Given the description of an element on the screen output the (x, y) to click on. 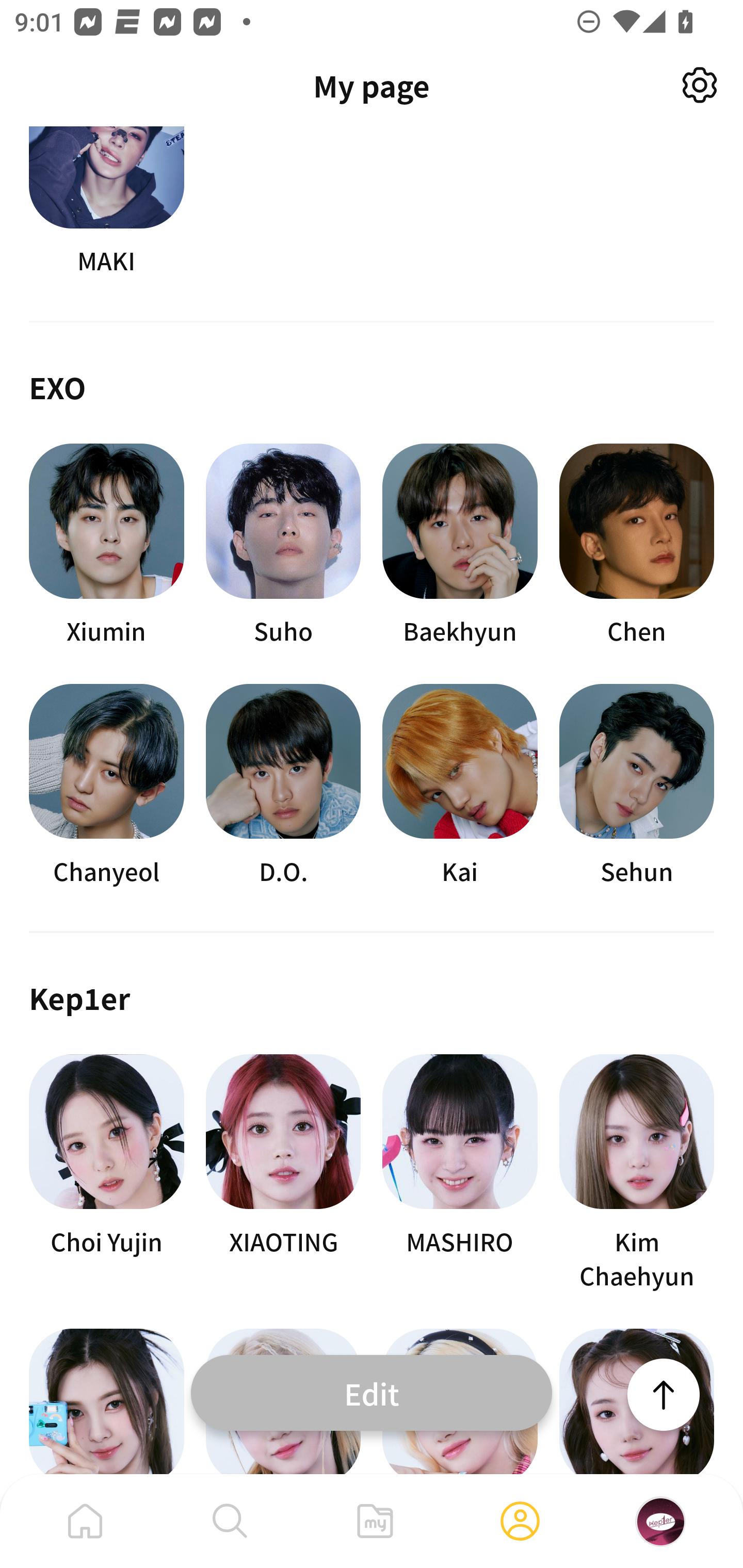
MAKI (106, 202)
Xiumin (106, 545)
Suho (282, 545)
Baekhyun (459, 545)
Chen (636, 545)
Chanyeol (106, 785)
D.O. (282, 785)
Kai (459, 785)
Sehun (636, 785)
Choi Yujin (106, 1172)
XIAOTING (282, 1172)
MASHIRO (459, 1172)
Kim Chaehyun (636, 1172)
Edit (371, 1392)
